Given the description of an element on the screen output the (x, y) to click on. 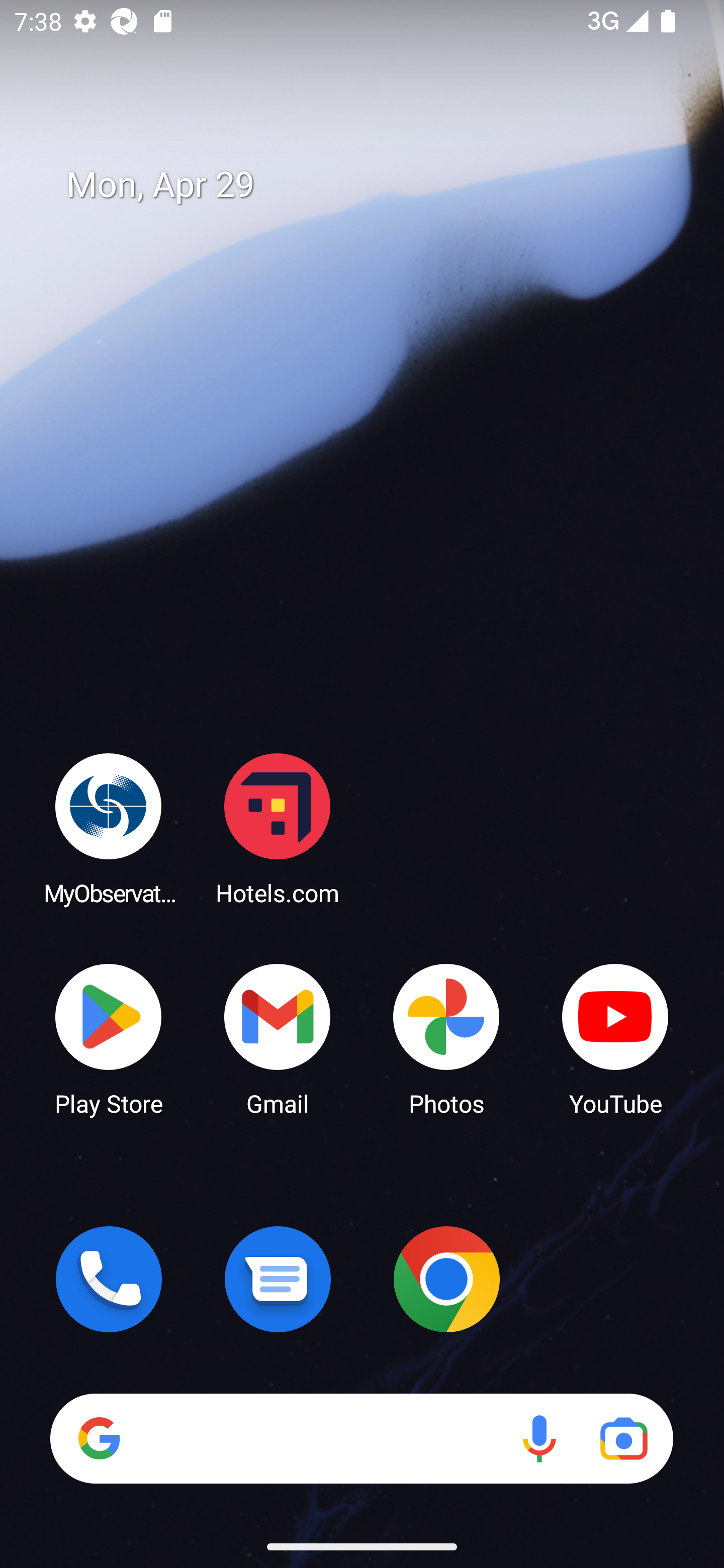
Mon, Apr 29 (375, 184)
MyObservatory (108, 828)
Hotels.com (277, 828)
Play Store (108, 1038)
Gmail (277, 1038)
Photos (445, 1038)
YouTube (615, 1038)
Phone (108, 1279)
Messages (277, 1279)
Chrome (446, 1279)
Search Voice search Google Lens (361, 1438)
Voice search (539, 1438)
Google Lens (623, 1438)
